Given the description of an element on the screen output the (x, y) to click on. 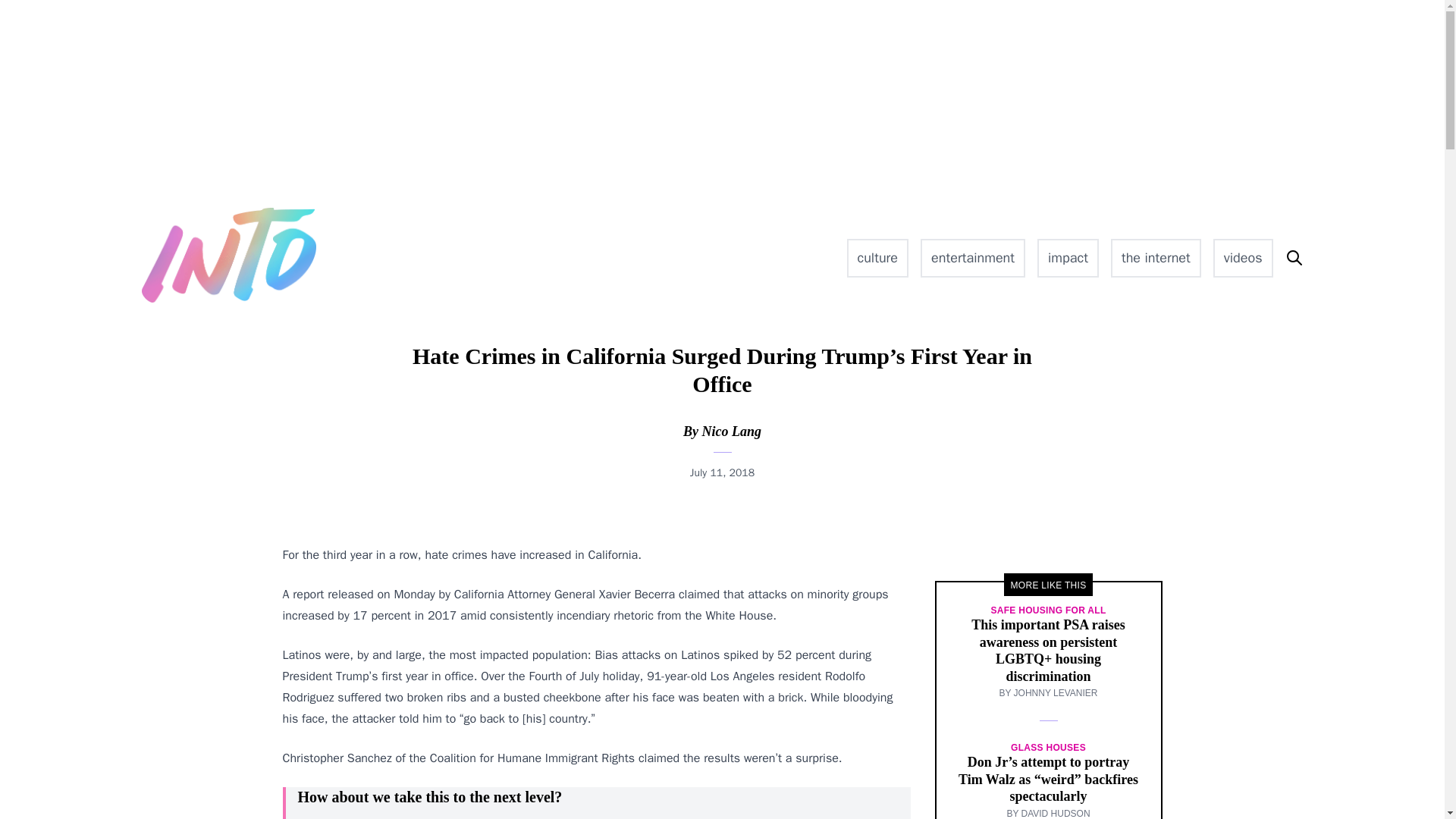
culture (877, 258)
the internet (1155, 258)
Nico Lang (731, 431)
entertainment (972, 258)
videos (1242, 258)
impact (1067, 258)
